Given the description of an element on the screen output the (x, y) to click on. 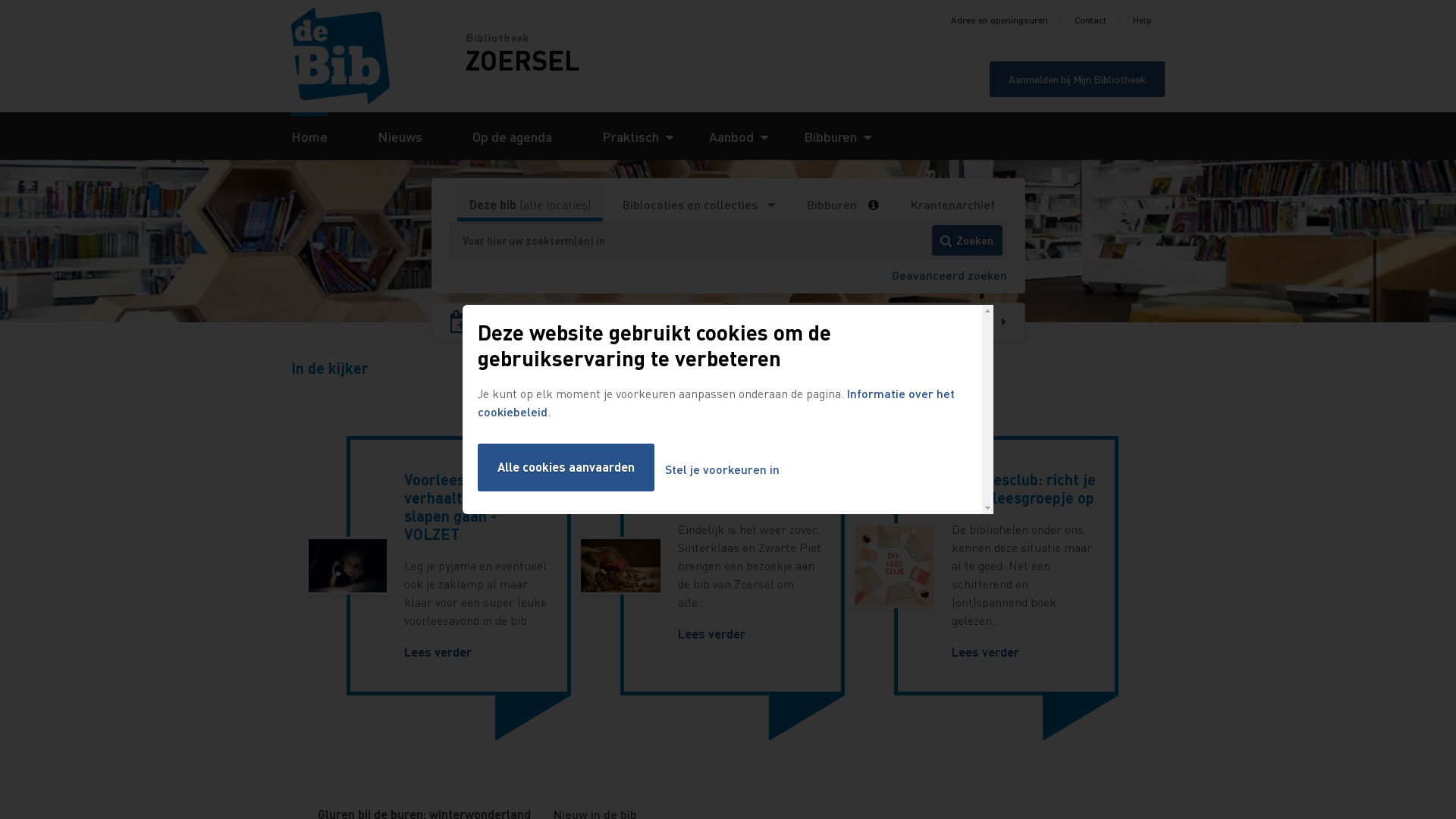
Biblocaties en collecties Element type: text (698, 204)
Op de agenda Element type: text (512, 136)
Adres en openingsuren Element type: text (999, 20)
Uitleentermijn verlengen Element type: text (578, 321)
Lees verder Element type: text (711, 633)
Informatie over het cookiebeleid Element type: text (715, 402)
Overslaan en naar zoeken gaan Element type: text (0, 0)
Home Element type: hover (378, 55)
Home Element type: text (309, 136)
Contact Element type: text (1090, 20)
Openingsuren opzoeken Element type: text (880, 321)
Geavanceerd zoeken Element type: text (949, 274)
Bibburen Element type: text (830, 204)
Alle cookies aanvaarden Element type: text (565, 466)
Zoeken Element type: text (966, 240)
Stel je voorkeuren in Element type: text (722, 469)
Lees verder Element type: text (437, 651)
Help Element type: text (1141, 20)
Lees verder Element type: text (985, 651)
Nieuws Element type: text (399, 136)
Deze bib (alle locaties) Element type: text (530, 204)
Aanmelden bij Mijn Bibliotheek Element type: text (1076, 79)
Krantenarchief Element type: text (952, 204)
Meer informatie Element type: hover (878, 204)
